Given the description of an element on the screen output the (x, y) to click on. 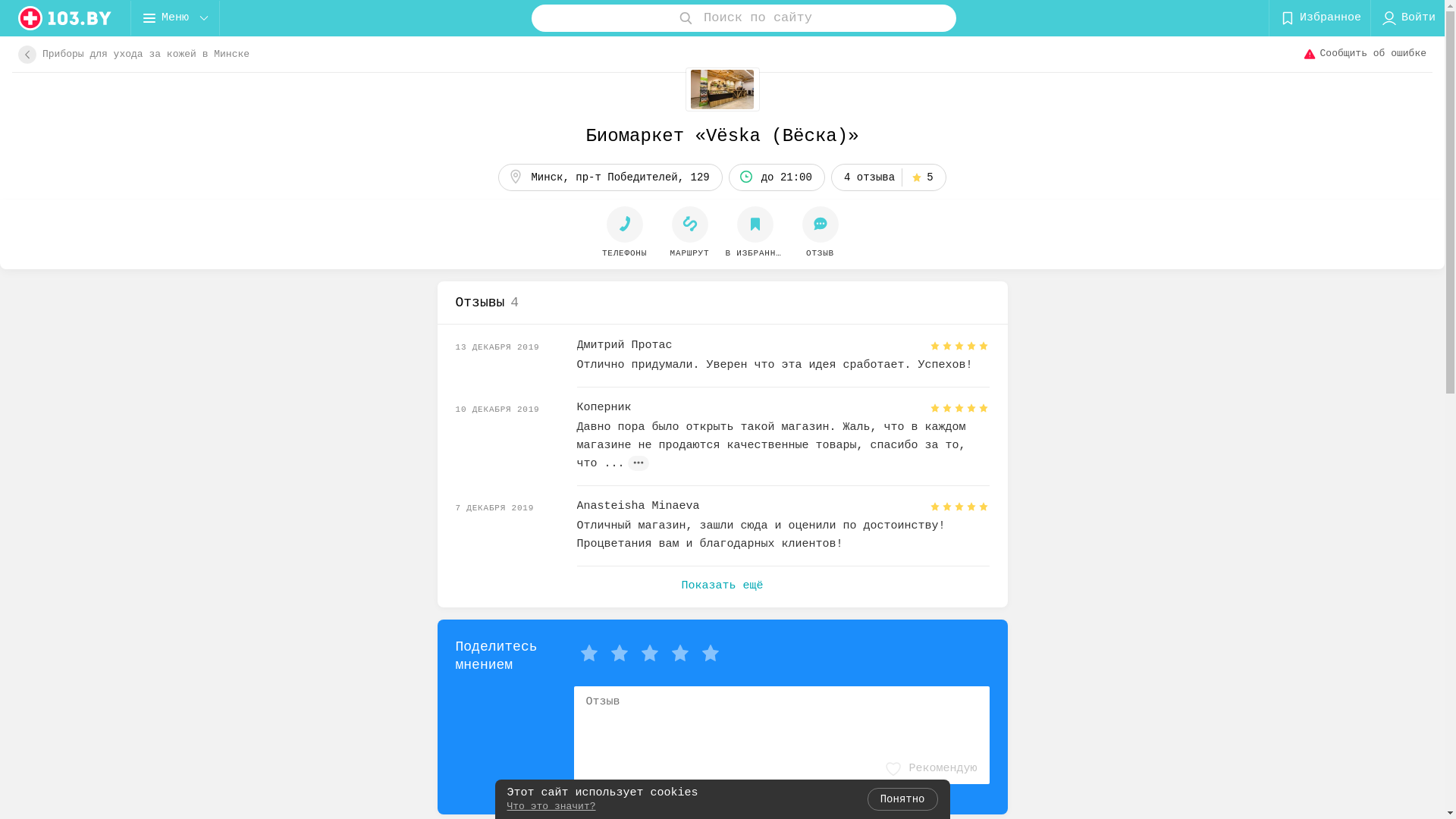
logo Element type: hover (65, 18)
